Given the description of an element on the screen output the (x, y) to click on. 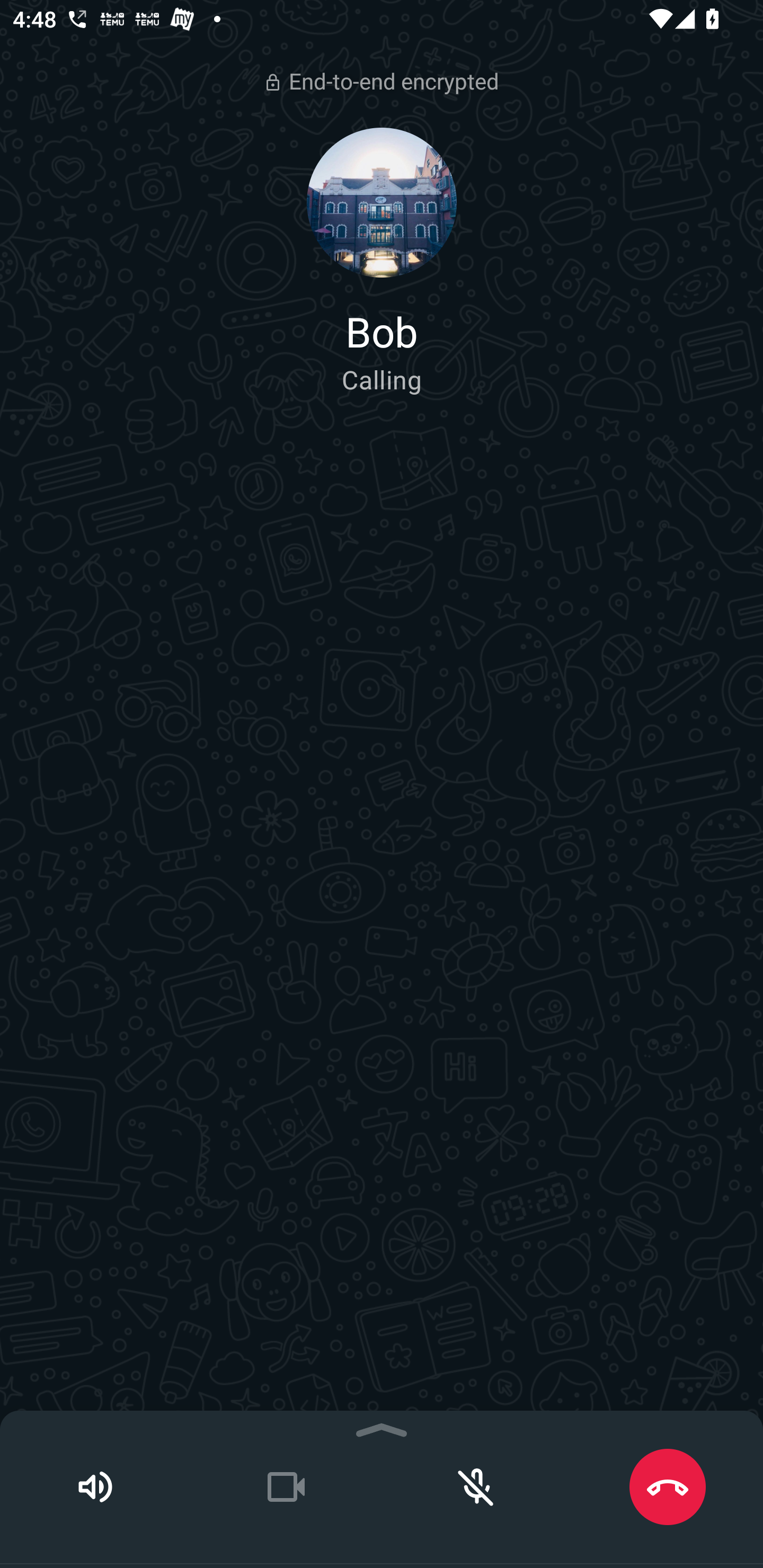
Turn speaker phone on (95, 1486)
Turn camera on (285, 1486)
Mute microphone (476, 1486)
Leave call (667, 1486)
